Given the description of an element on the screen output the (x, y) to click on. 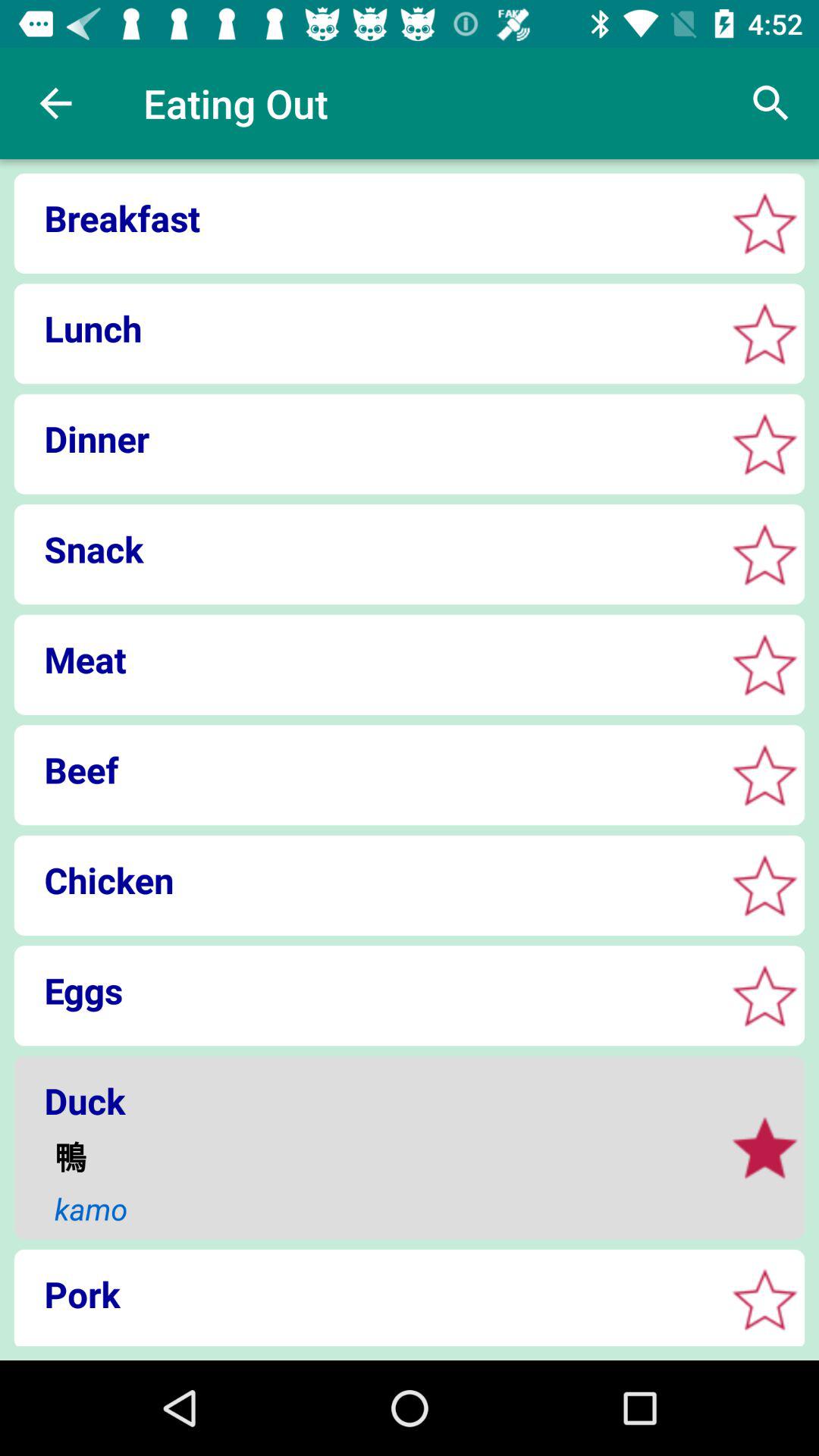
select item below kamo (364, 1294)
